Given the description of an element on the screen output the (x, y) to click on. 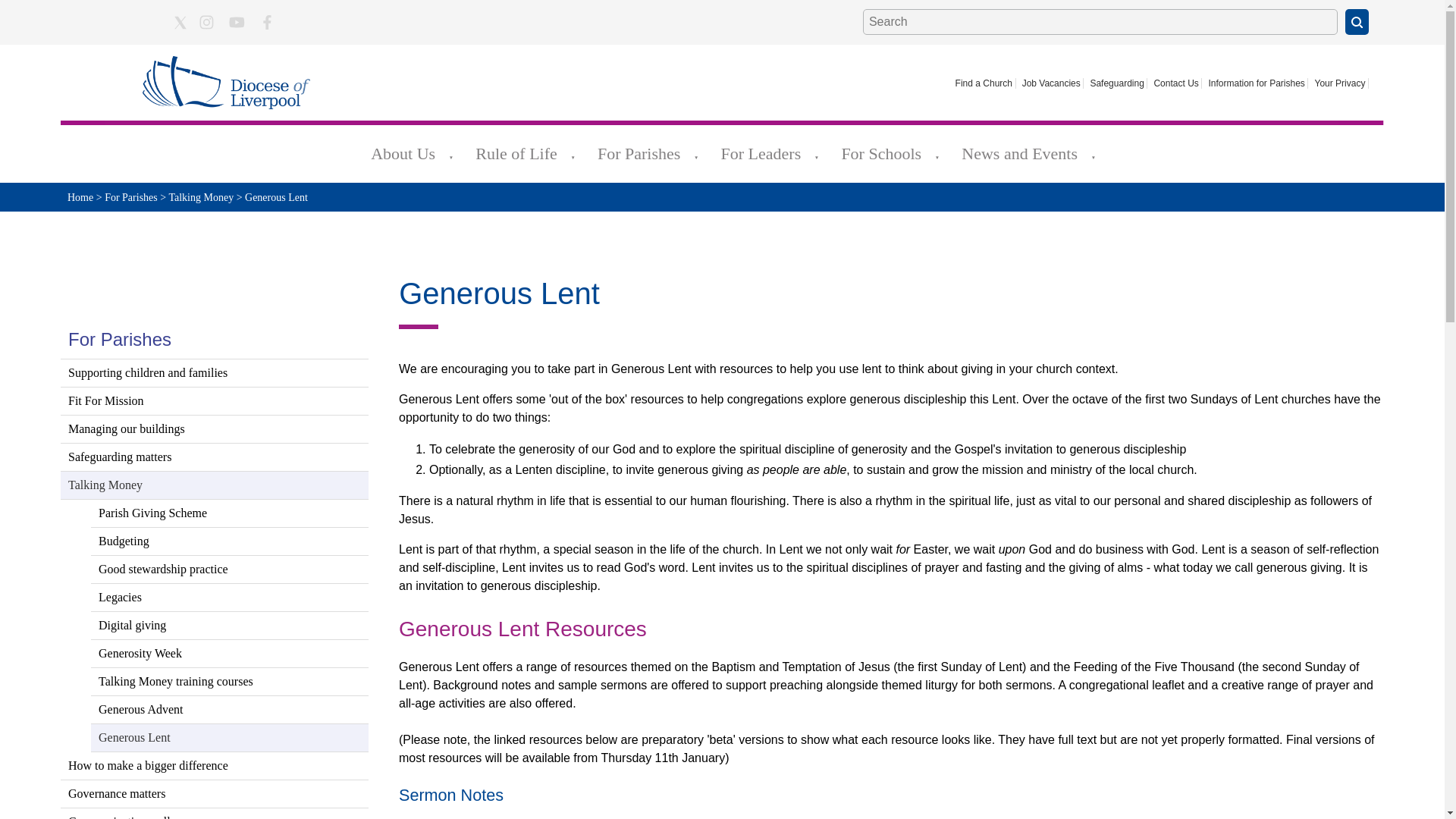
Your Privacy (1339, 82)
Find a Church (984, 82)
Logo (226, 82)
Job Vacancies (1051, 82)
Information for Parishes (1256, 82)
Safeguarding (1117, 82)
Contact Us (1176, 82)
